Given the description of an element on the screen output the (x, y) to click on. 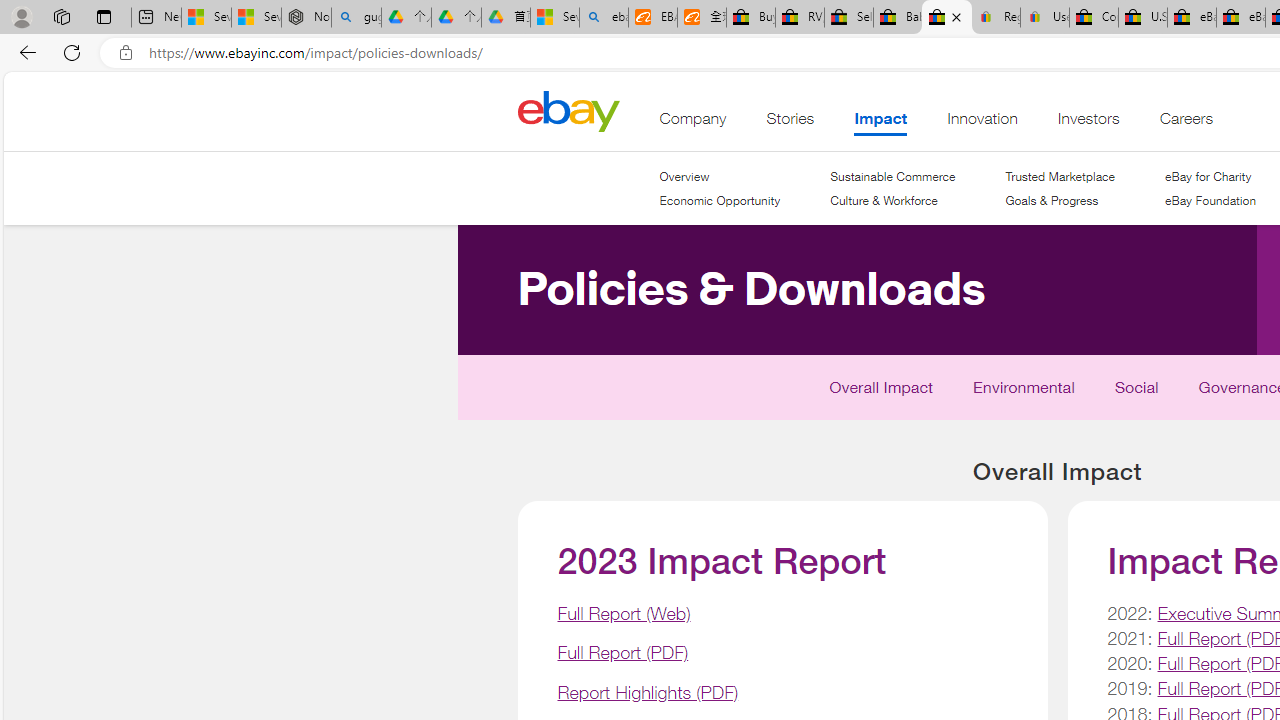
guge yunpan - Search (356, 17)
Goals & Progress (1059, 201)
Impact . This is the current section. (880, 123)
Economic Opportunity (719, 201)
Culture & Workforce (883, 200)
Overview (719, 176)
Policies & Downloads (636, 397)
eBay Inc. Reports Third Quarter 2023 Results (1240, 17)
Social (1135, 391)
Trusted Marketplace (1059, 176)
